Given the description of an element on the screen output the (x, y) to click on. 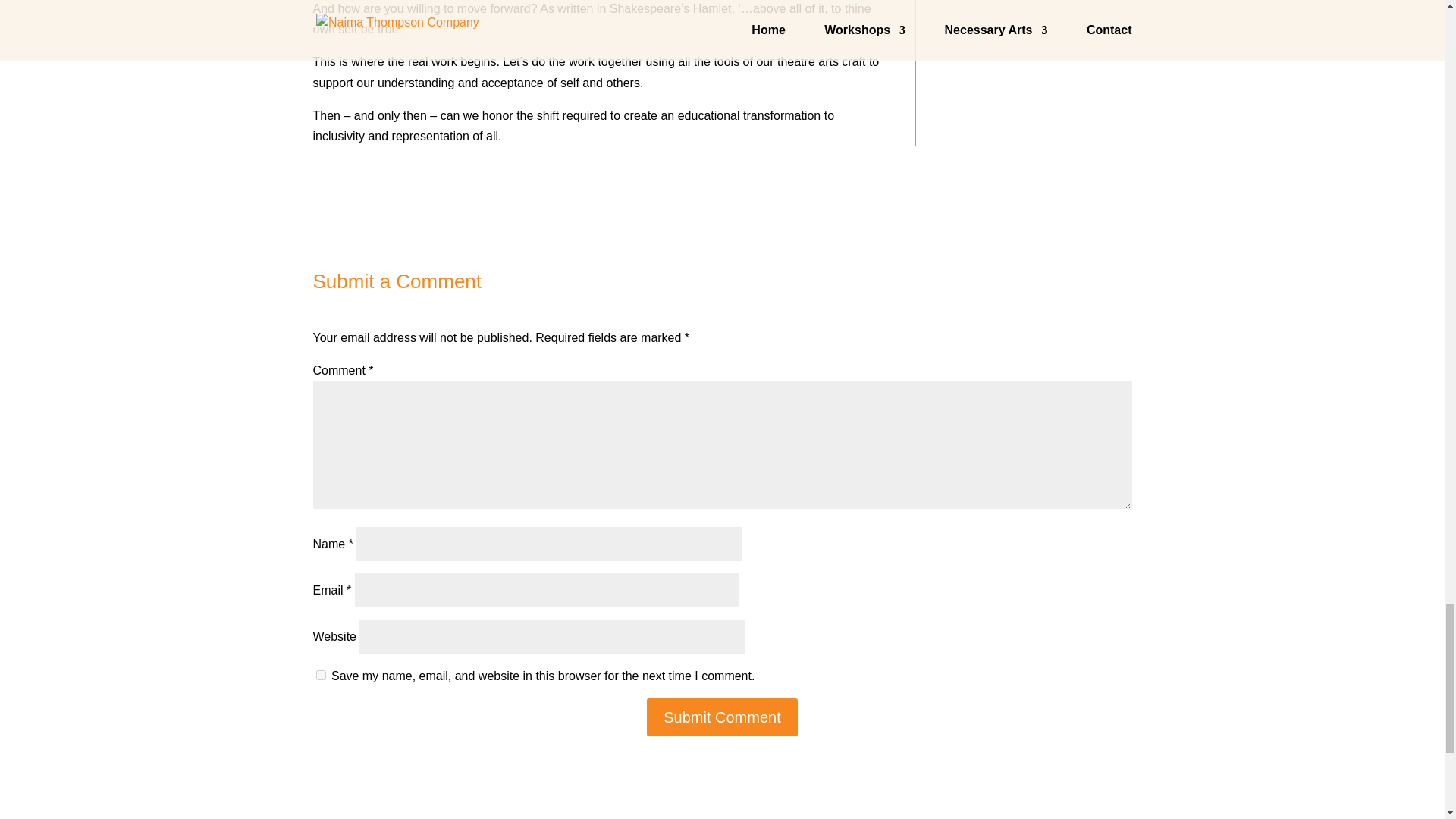
Submit Comment (721, 717)
yes (319, 675)
Submit Comment (721, 717)
